Given the description of an element on the screen output the (x, y) to click on. 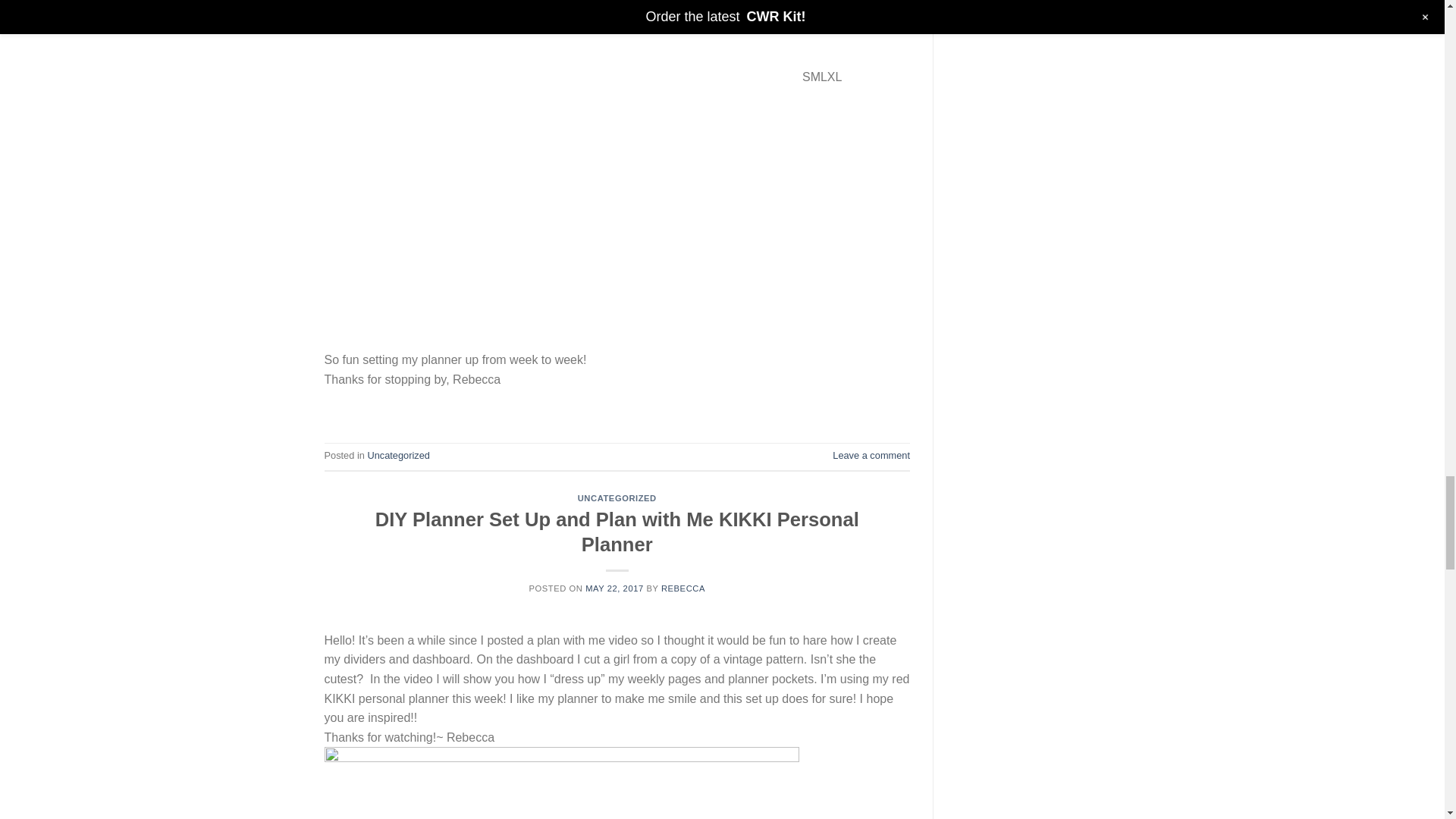
REBECCA (682, 587)
Uncategorized (397, 455)
DIY Planner Set Up and Plan with Me KIKKI Personal Planner (617, 531)
UNCATEGORIZED (617, 497)
Leave a comment (871, 455)
Click and drag to move (330, 325)
MAY 22, 2017 (614, 587)
